Given the description of an element on the screen output the (x, y) to click on. 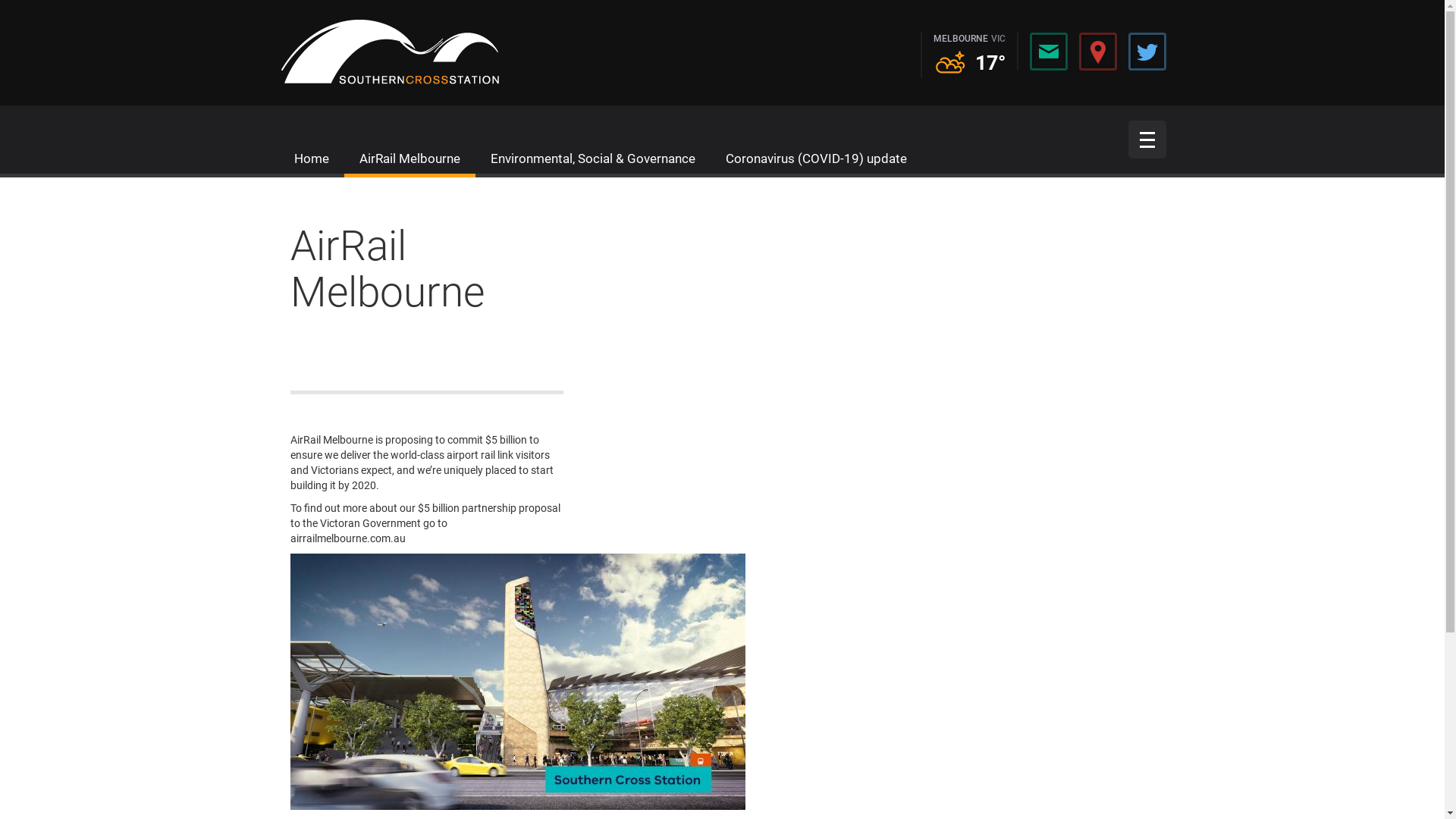
Coronavirus (COVID-19) update Element type: text (815, 158)
AirRail Melbourne Element type: text (409, 158)
Environmental, Social & Governance Element type: text (591, 158)
Home Element type: text (311, 158)
